Given the description of an element on the screen output the (x, y) to click on. 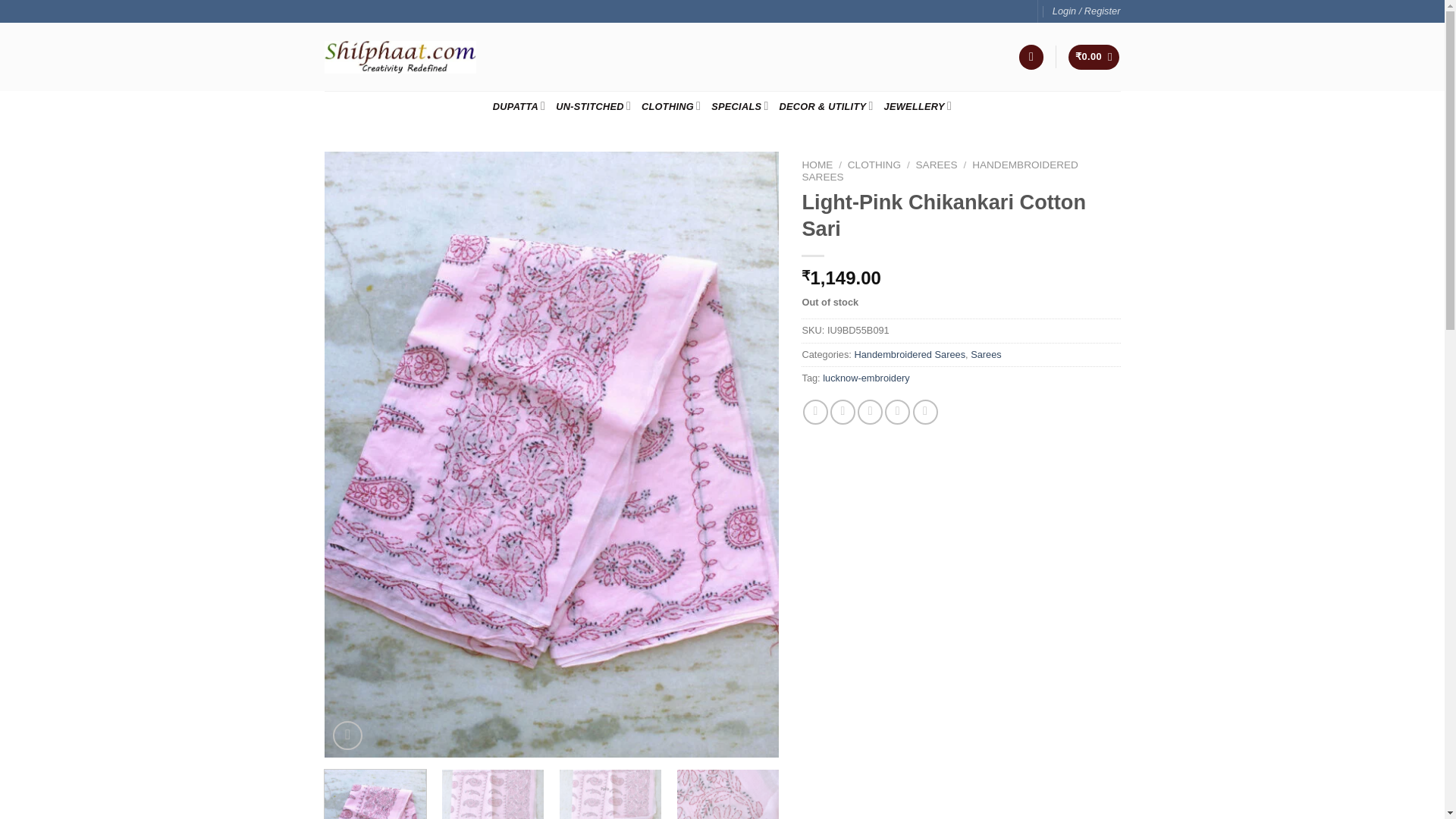
DUPATTA (518, 105)
CLOTHING (671, 105)
Share on Twitter (842, 412)
Pin on Pinterest (897, 412)
Share on Facebook (815, 412)
Email to a Friend (869, 412)
Zoom (347, 736)
Cart (1093, 57)
Share on Tumblr (924, 412)
UN-STITCHED (593, 105)
